Given the description of an element on the screen output the (x, y) to click on. 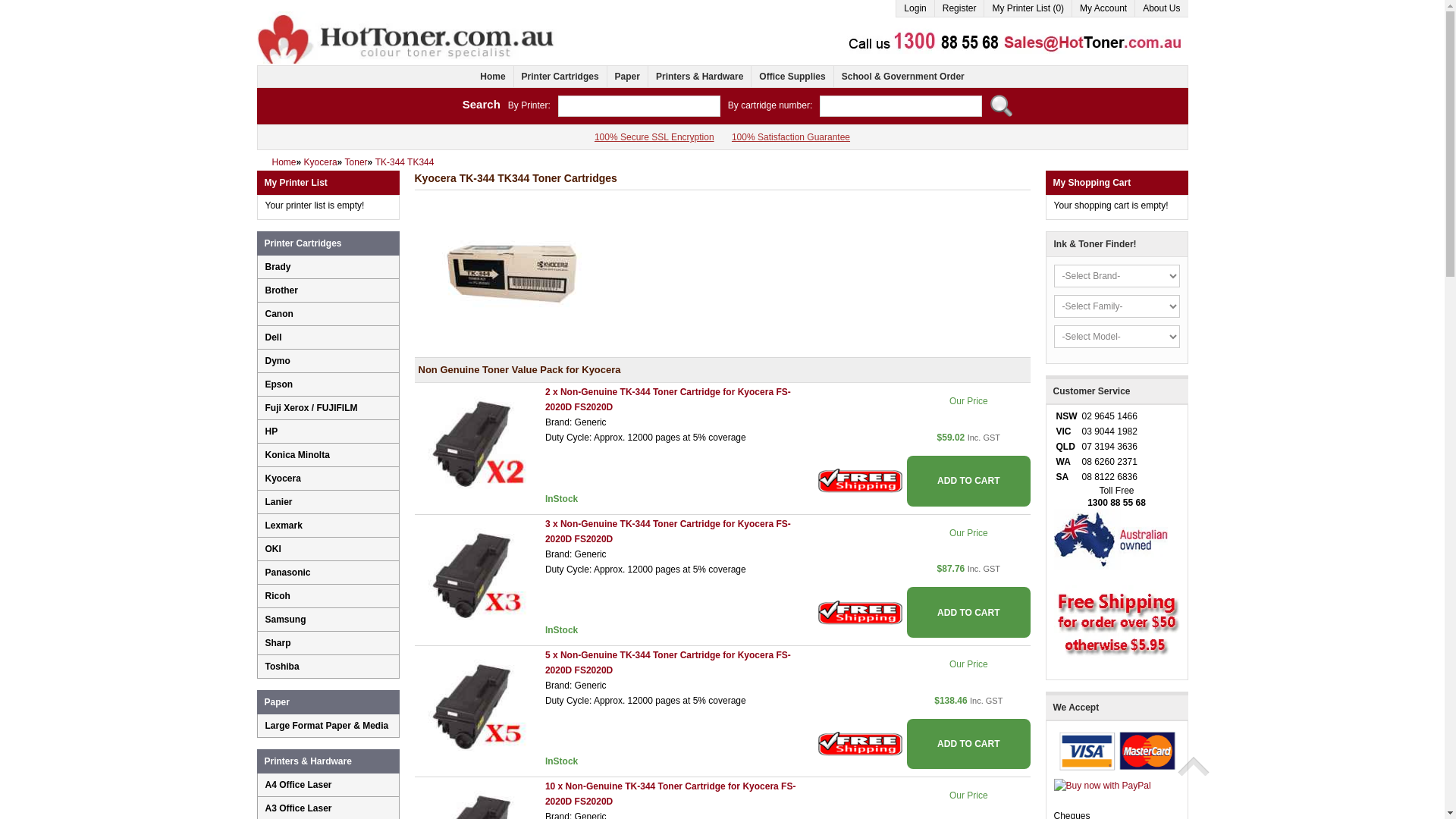
My Printer List (0) Element type: text (1027, 8)
Paper Element type: text (626, 76)
Paper Element type: text (275, 701)
Kyocera Element type: text (320, 161)
ADD TO CART Element type: text (967, 743)
Canon Element type: text (331, 313)
Home Element type: text (283, 161)
Sharp Element type: text (331, 642)
Printers & Hardware Element type: text (698, 76)
OKI Element type: text (331, 548)
100% Secure SSL Encryption Element type: text (653, 137)
Large Format Paper & Media Element type: text (331, 725)
Lanier Element type: text (331, 501)
Brady Element type: text (331, 266)
TK-344 TK344 Element type: text (404, 161)
Ricoh Element type: text (331, 595)
My Account Element type: text (1102, 8)
A4 Office Laser Element type: text (331, 784)
HP Element type: text (331, 431)
Printers & Hardware Element type: text (307, 761)
Panasonic Element type: text (331, 572)
ADD TO CART Element type: text (967, 611)
Login Element type: text (914, 8)
About Us Element type: text (1160, 8)
Fuji Xerox / FUJIFILM Element type: text (331, 407)
Register Element type: text (959, 8)
Epson Element type: text (331, 384)
100% Satisfaction Guarantee Element type: text (790, 137)
Home Element type: text (492, 76)
Toshiba Element type: text (331, 666)
Dymo Element type: text (331, 360)
Contact Us Element type: hover (1004, 37)
School & Government Order Element type: text (902, 76)
How PayPal Works Element type: hover (1102, 784)
Printer Cartridges Element type: text (559, 76)
Hot Toner Element type: hover (406, 17)
Office Supplies Element type: text (791, 76)
Toner Element type: text (356, 161)
Kyocera Element type: text (331, 478)
Hot Toner Element type: hover (406, 37)
Dell Element type: text (331, 337)
ADD TO CART Element type: text (967, 480)
Lexmark Element type: text (331, 525)
Printer Cartridges Element type: text (302, 243)
Konica Minolta Element type: text (331, 454)
Brother Element type: text (331, 290)
Samsung Element type: text (331, 619)
